Given the description of an element on the screen output the (x, y) to click on. 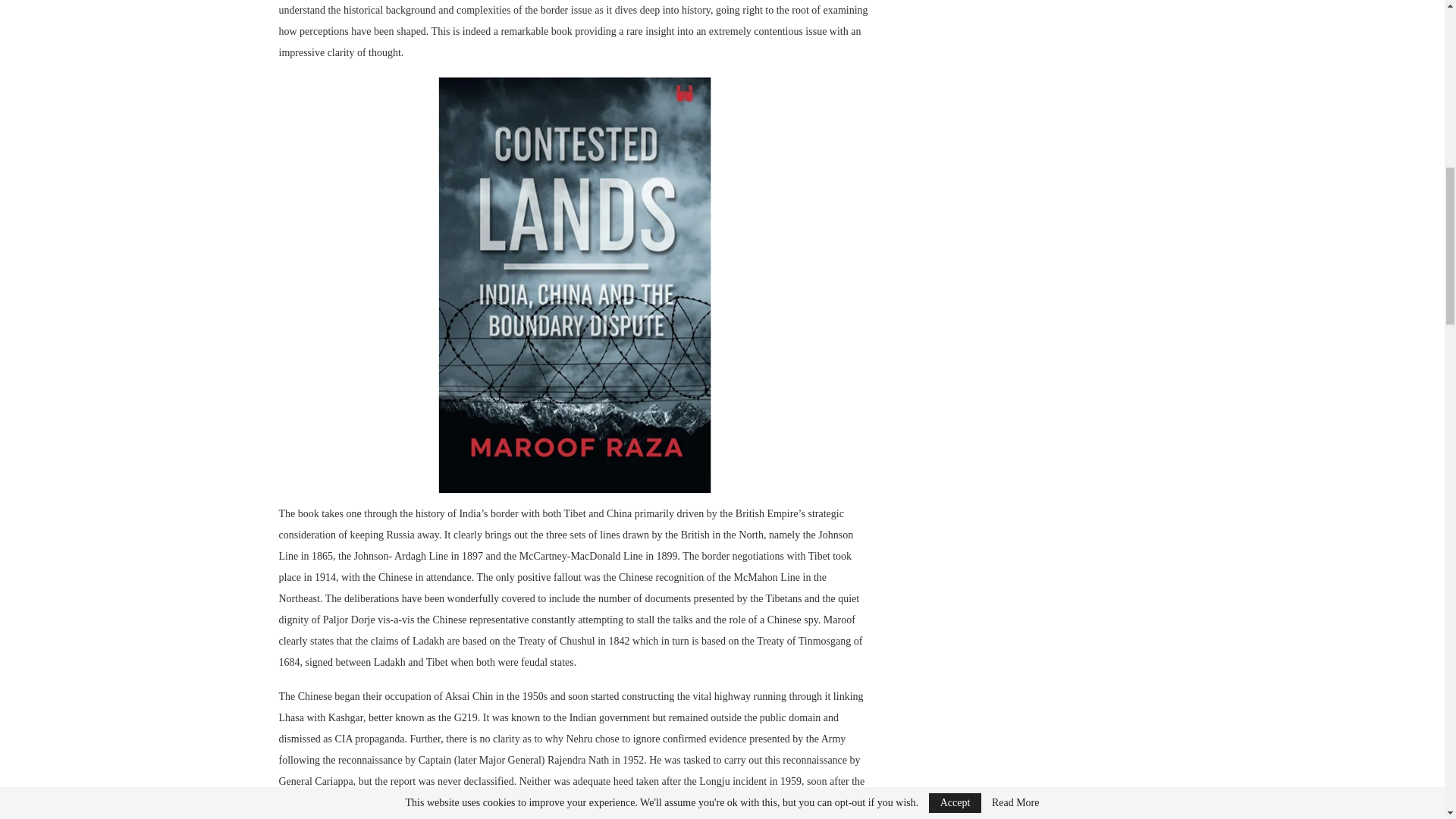
THE INDIA-CHINA BOUNDARY DISPUTE 2 (574, 284)
